Given the description of an element on the screen output the (x, y) to click on. 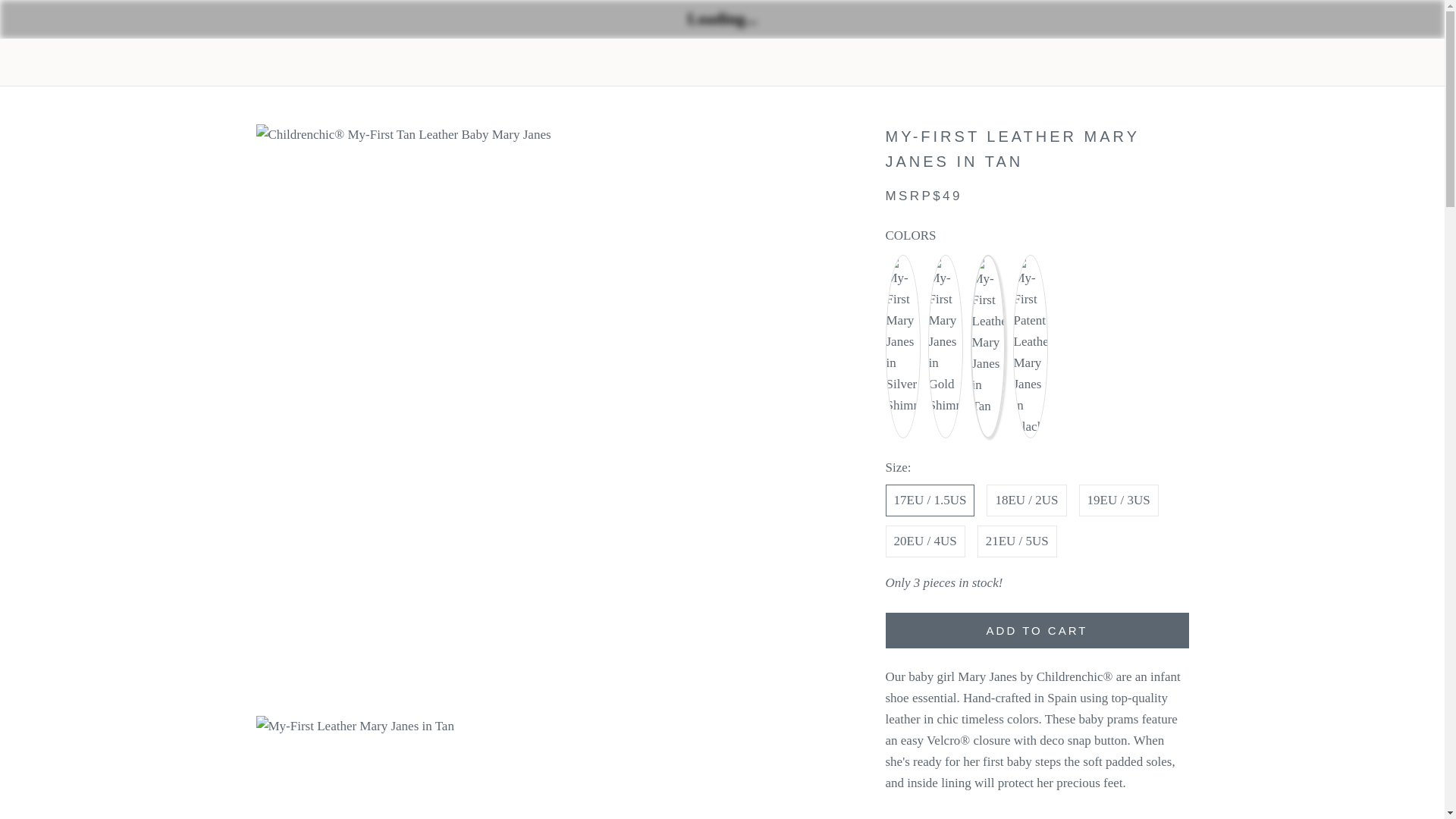
My-First Patent Leather Mary Janes in Black (1029, 265)
My-First Mary Janes in Gold Shimmer (944, 265)
My-First Mary Janes in Silver Shimmer (901, 265)
